Given the description of an element on the screen output the (x, y) to click on. 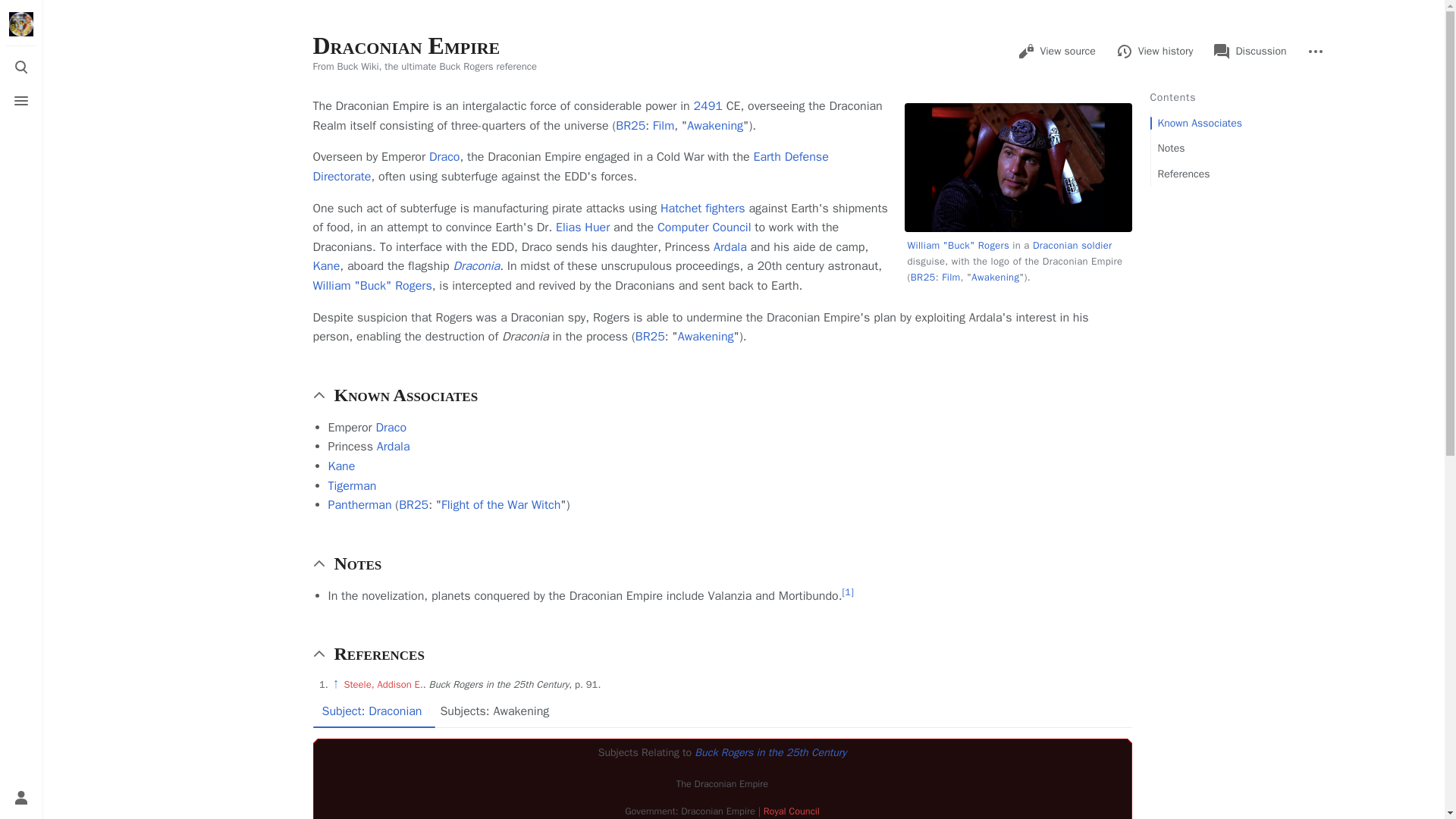
Toggle menu (20, 100)
View history (1155, 51)
Toggle personal menu (20, 797)
Visit the main page (20, 24)
Computer Council (704, 227)
William "Buck" Rogers (958, 245)
Film (950, 277)
Kane (326, 265)
View source (1056, 51)
Film (663, 125)
